Given the description of an element on the screen output the (x, y) to click on. 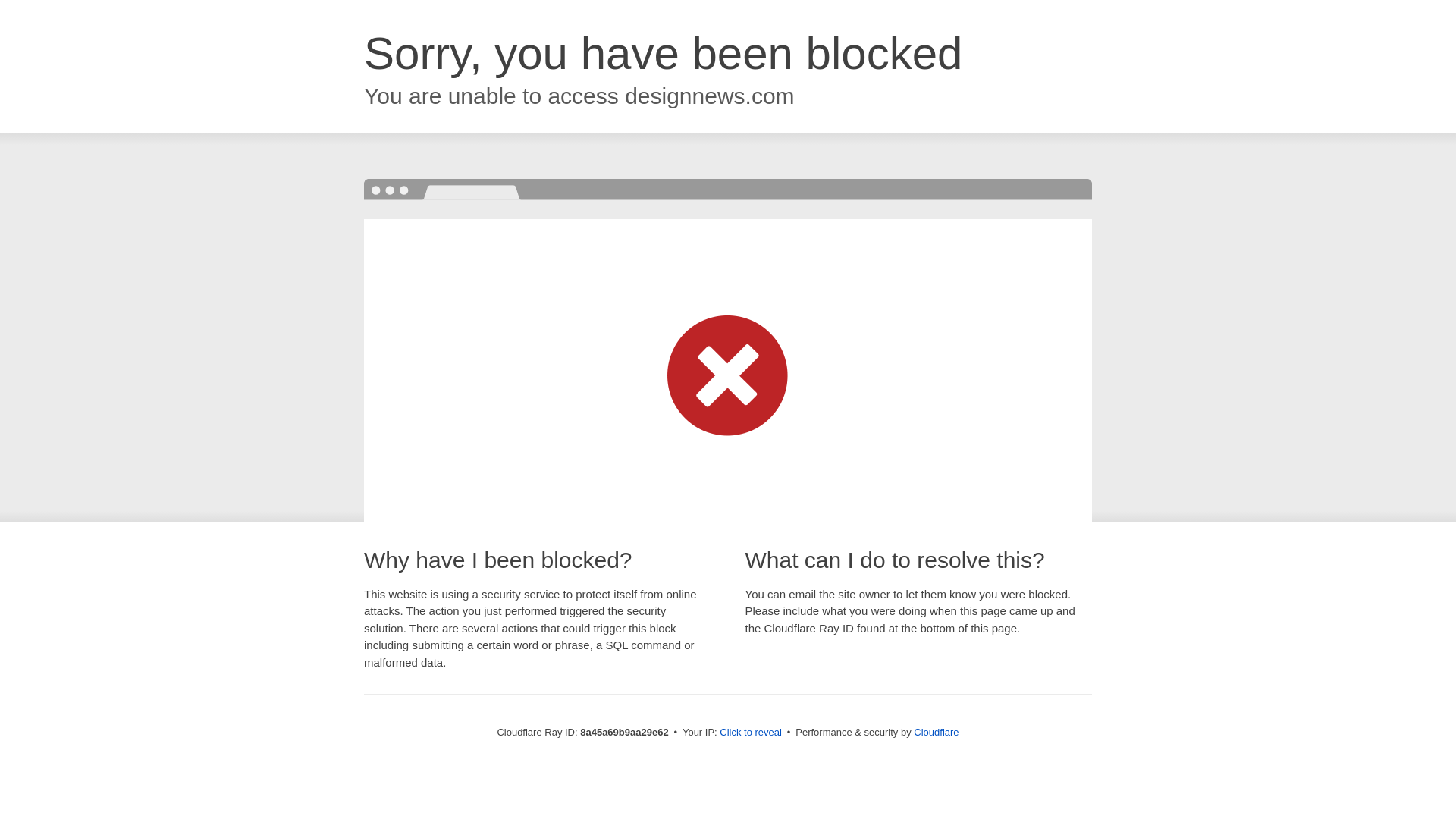
Cloudflare (936, 731)
Click to reveal (750, 732)
